Given the description of an element on the screen output the (x, y) to click on. 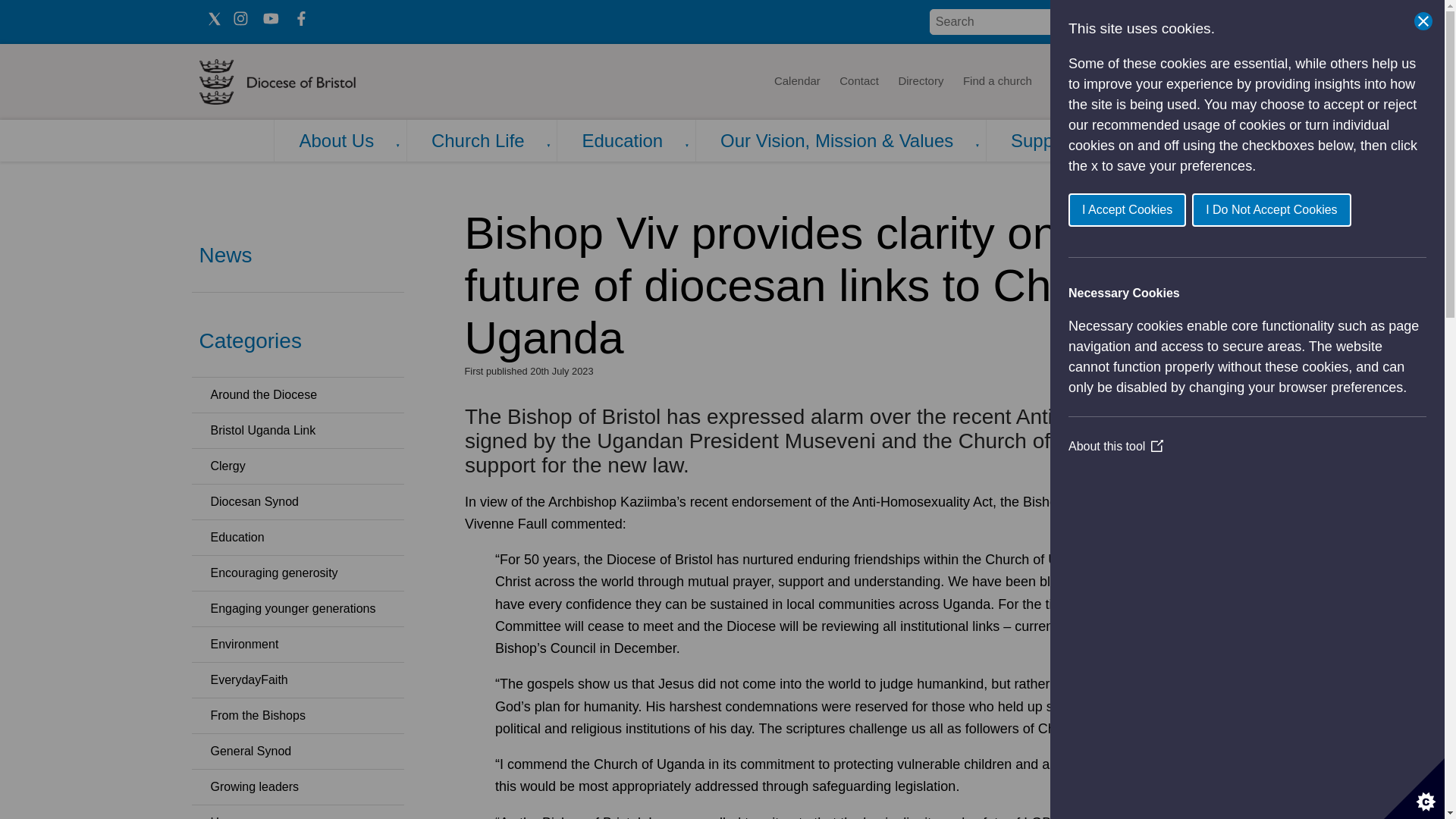
Contact (858, 81)
Safeguarding (1203, 81)
Directory (920, 81)
News (1064, 81)
Calendar (797, 81)
Find a church (997, 81)
